Given the description of an element on the screen output the (x, y) to click on. 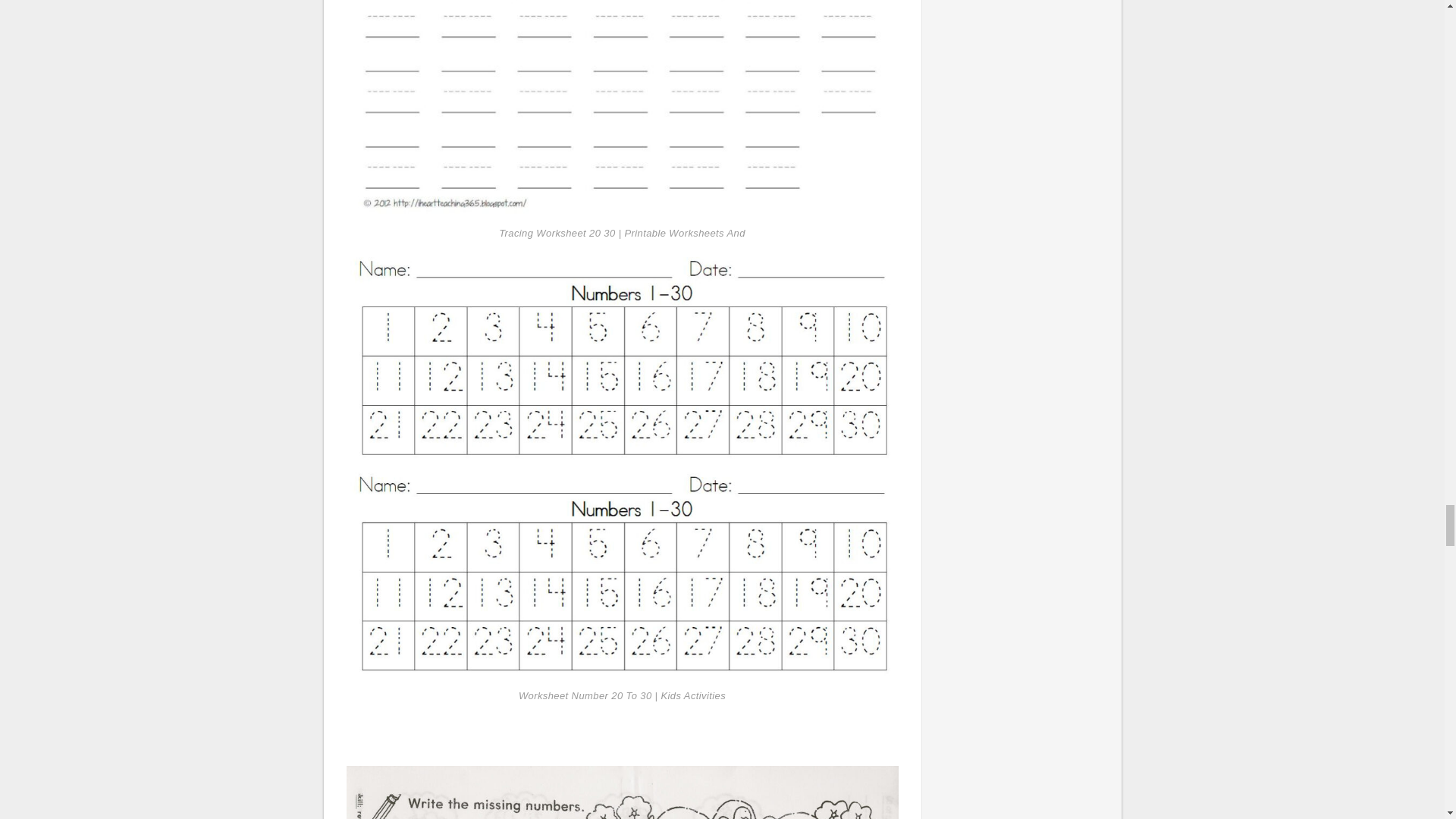
Number Charts To Print Activity Shelter Count And Trace (622, 792)
